Given the description of an element on the screen output the (x, y) to click on. 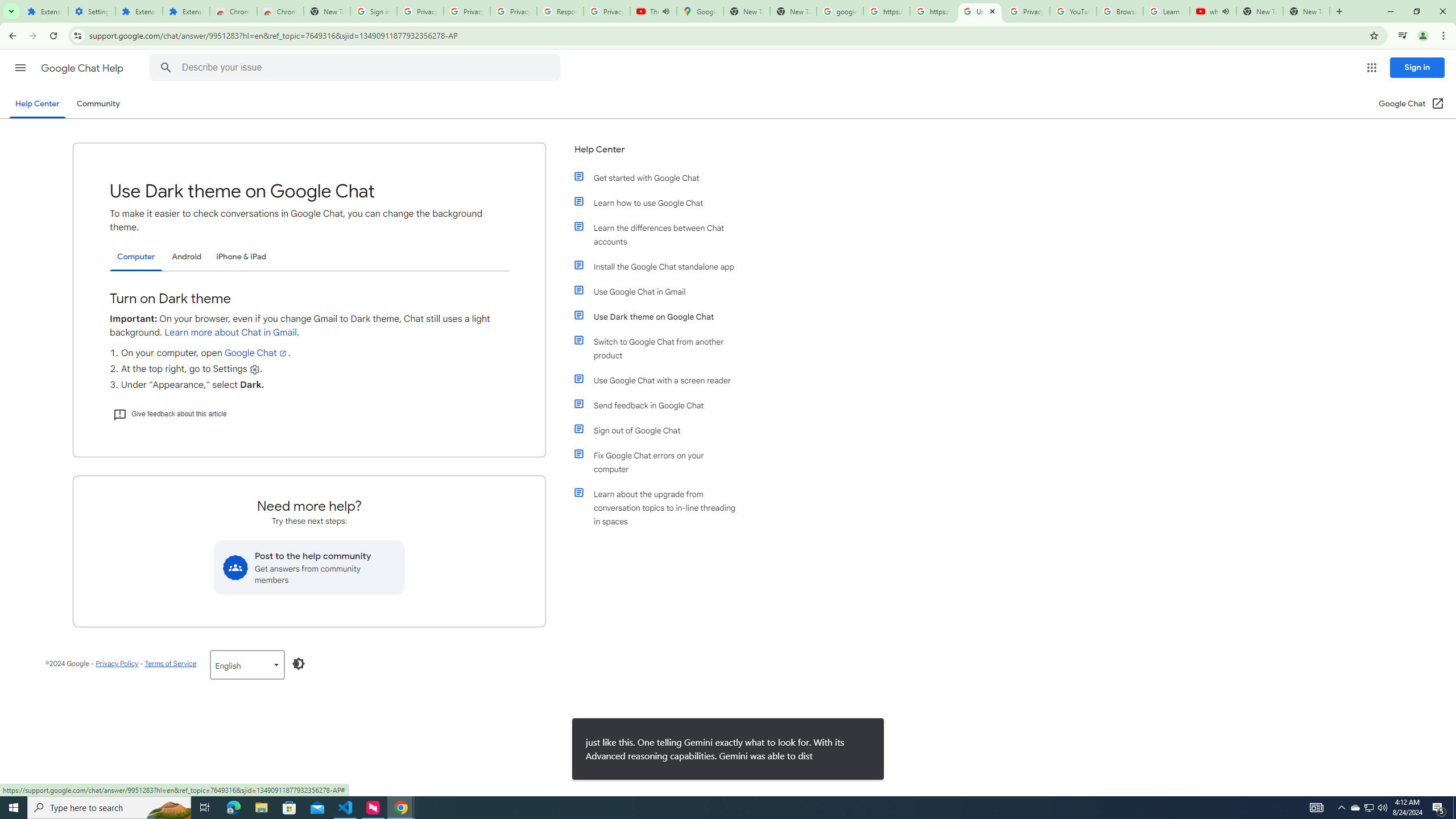
YouTube (1073, 11)
Search Help Center (165, 67)
Extensions (186, 11)
https://scholar.google.com/ (886, 11)
Google Maps (699, 11)
Send feedback in Google Chat (661, 405)
Use Dark theme on Google Chat (661, 316)
New Tab (1306, 11)
Main menu (20, 67)
